Given the description of an element on the screen output the (x, y) to click on. 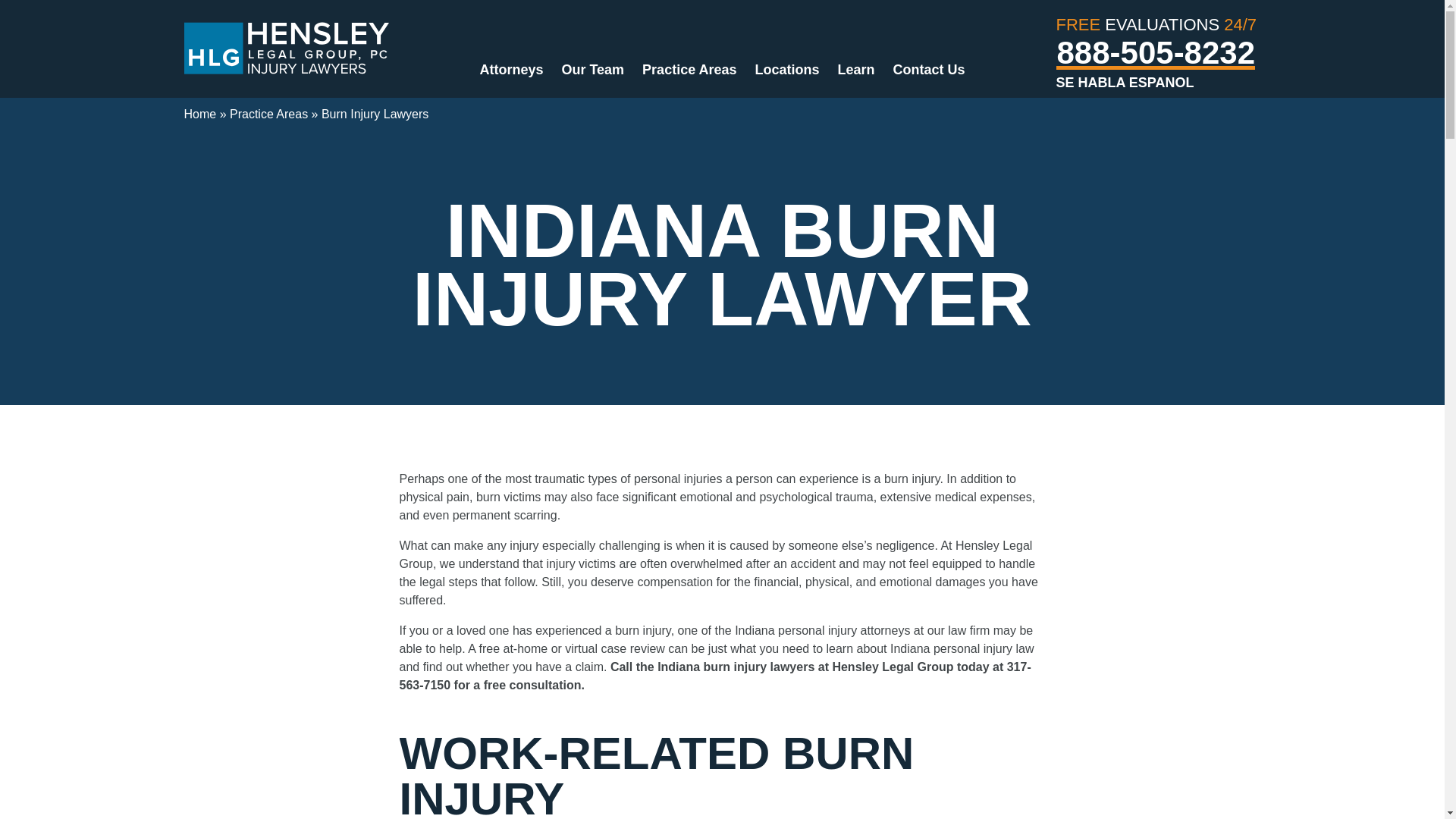
Our Team (592, 69)
Practice Areas (689, 69)
Locations (787, 69)
Attorneys (511, 69)
